Given the description of an element on the screen output the (x, y) to click on. 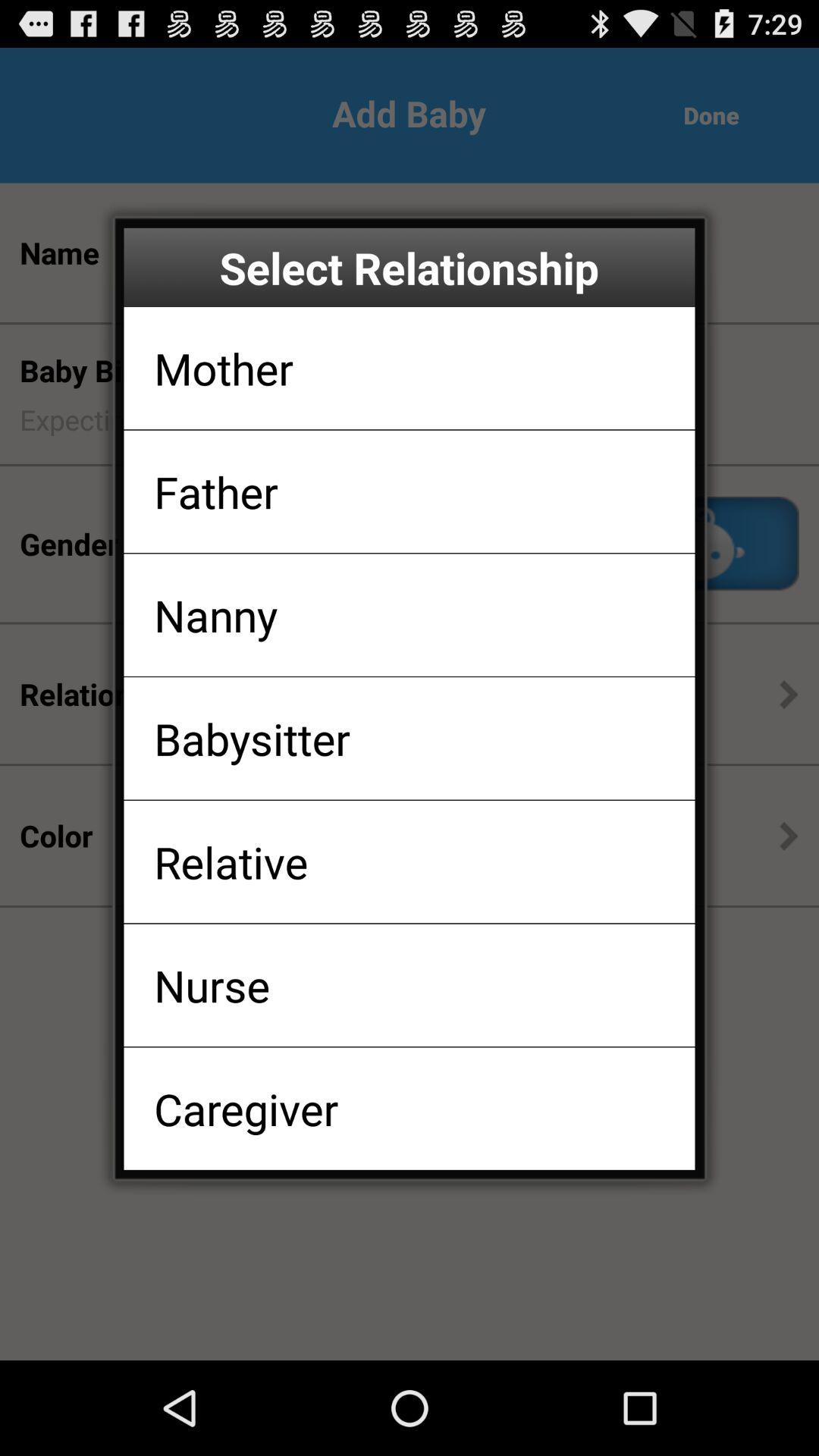
open the app at the top left corner (223, 367)
